Given the description of an element on the screen output the (x, y) to click on. 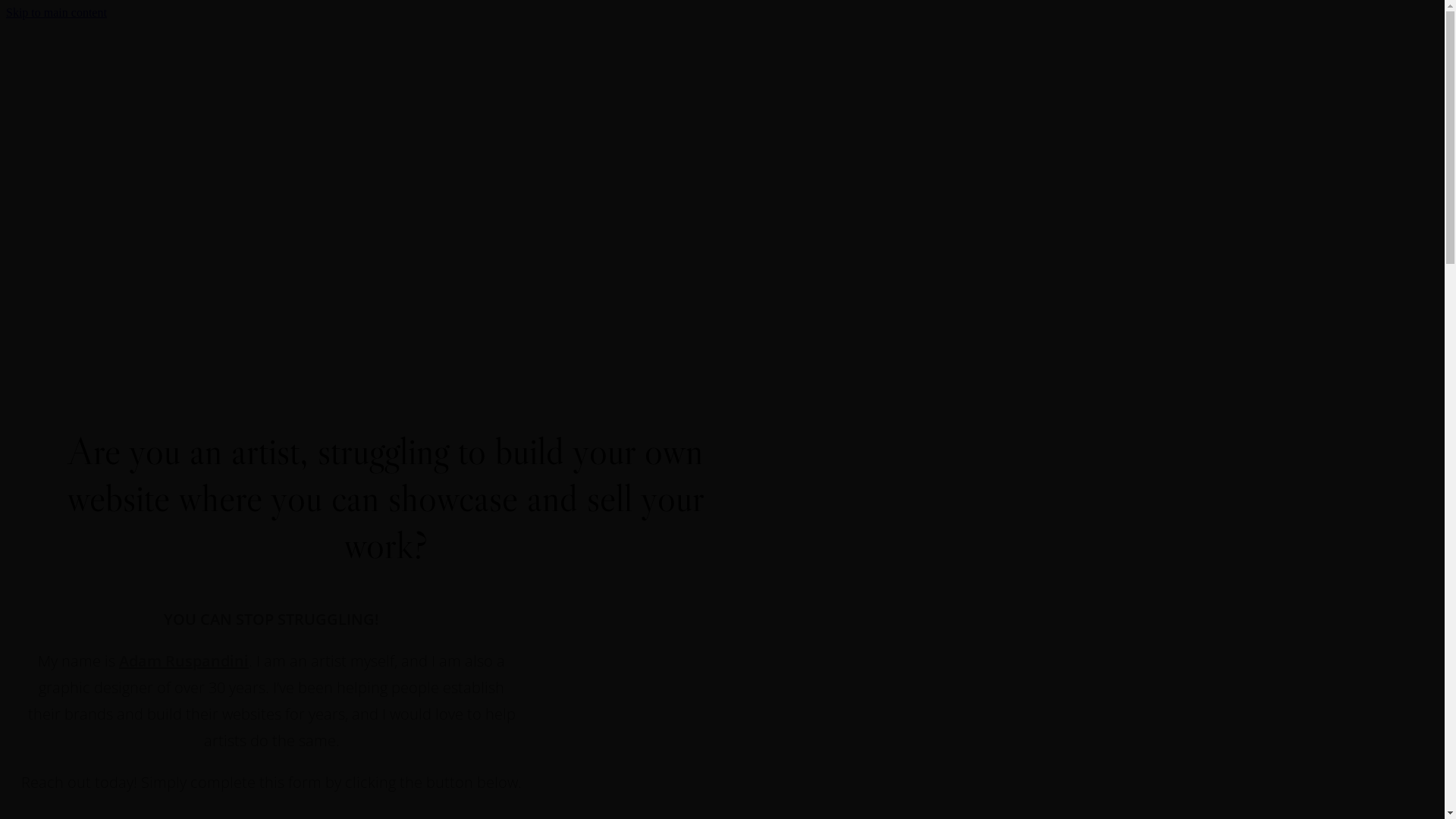
Skip to main content Element type: text (56, 12)
Adam Ruspandini Element type: text (183, 660)
